Given the description of an element on the screen output the (x, y) to click on. 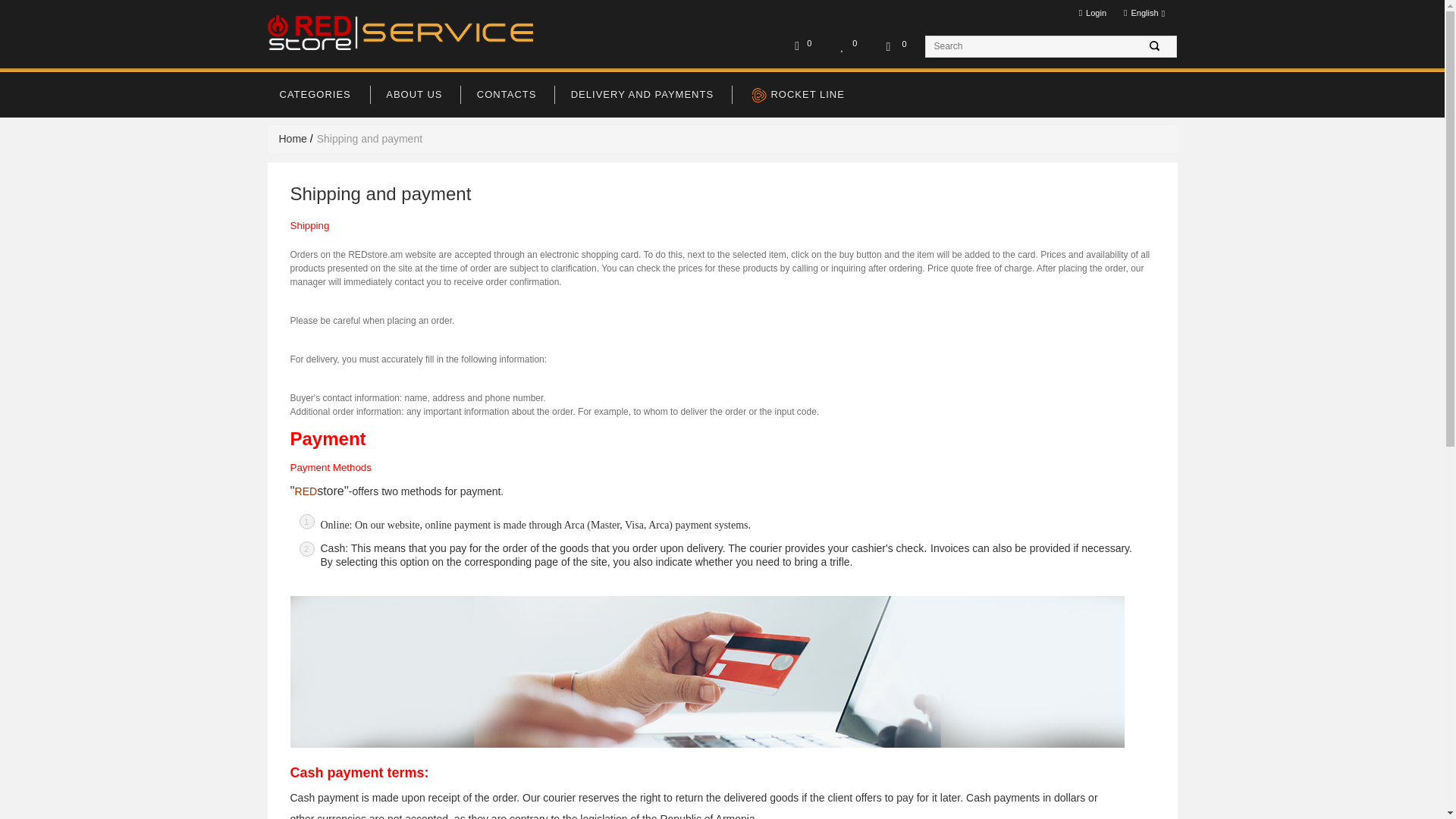
0 (847, 46)
Favorites (843, 46)
0 (801, 46)
English (1144, 13)
Login (1090, 12)
0 (897, 46)
